Given the description of an element on the screen output the (x, y) to click on. 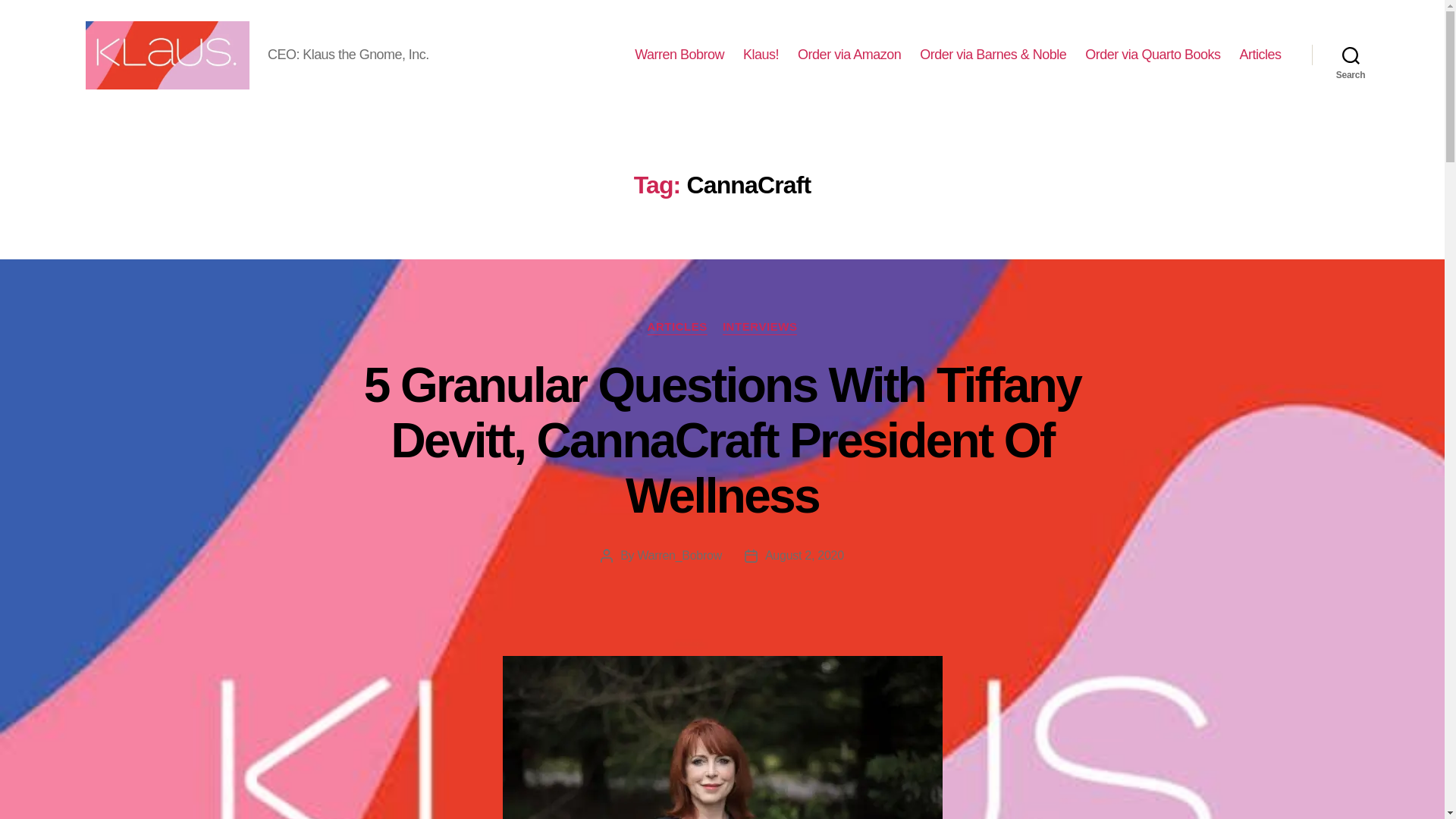
Search (1350, 55)
INTERVIEWS (759, 327)
Warren Bobrow (678, 54)
August 2, 2020 (804, 554)
Order via Quarto Books (1152, 54)
Order via Amazon (849, 54)
ARTICLES (677, 327)
Quarto (1152, 54)
Articles (1260, 54)
